Given the description of an element on the screen output the (x, y) to click on. 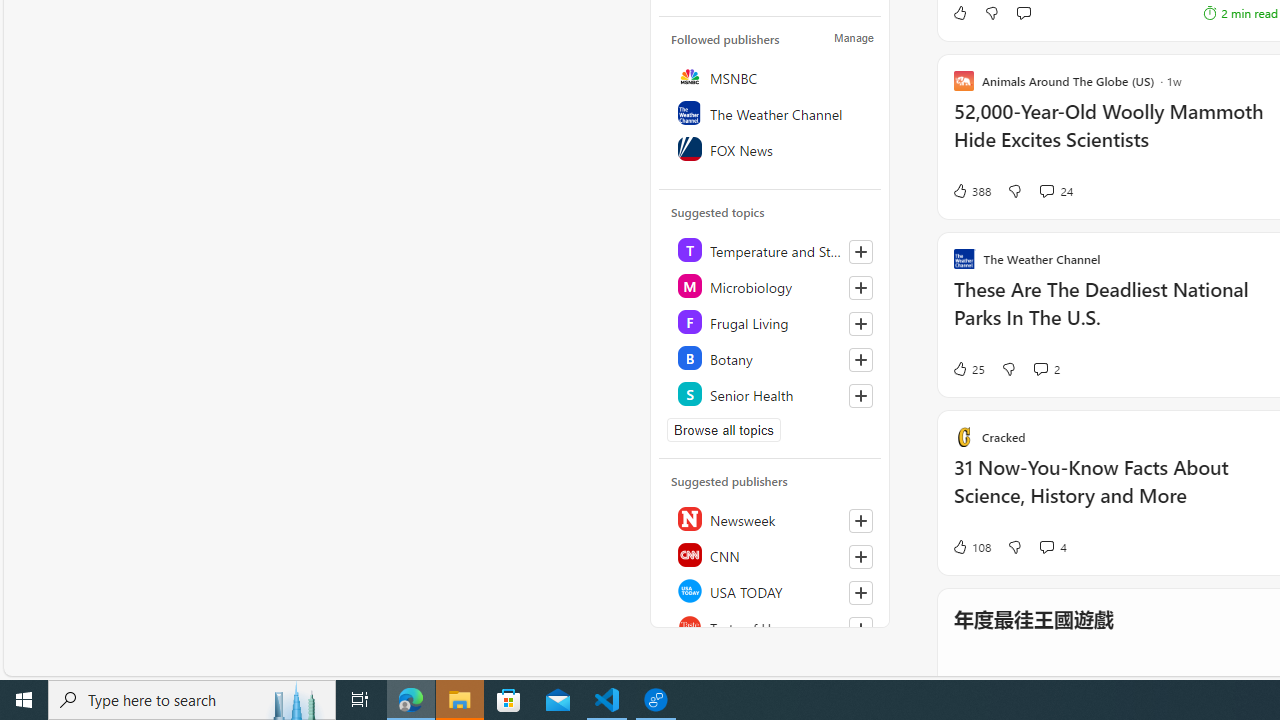
View comments 2 Comment (1045, 368)
31 Now-You-Know Facts About Science, History and More (1115, 491)
Follow this topic (860, 395)
Follow this topic (860, 395)
View comments 24 Comment (1055, 191)
USA TODAY (771, 590)
MSNBC (771, 76)
The Weather Channel (771, 112)
Class: highlight (771, 393)
View comments 4 Comment (1046, 547)
Follow this source (860, 628)
25 Like (968, 368)
Like (959, 12)
These Are The Deadliest National Parks In The U.S. (1115, 313)
